Given the description of an element on the screen output the (x, y) to click on. 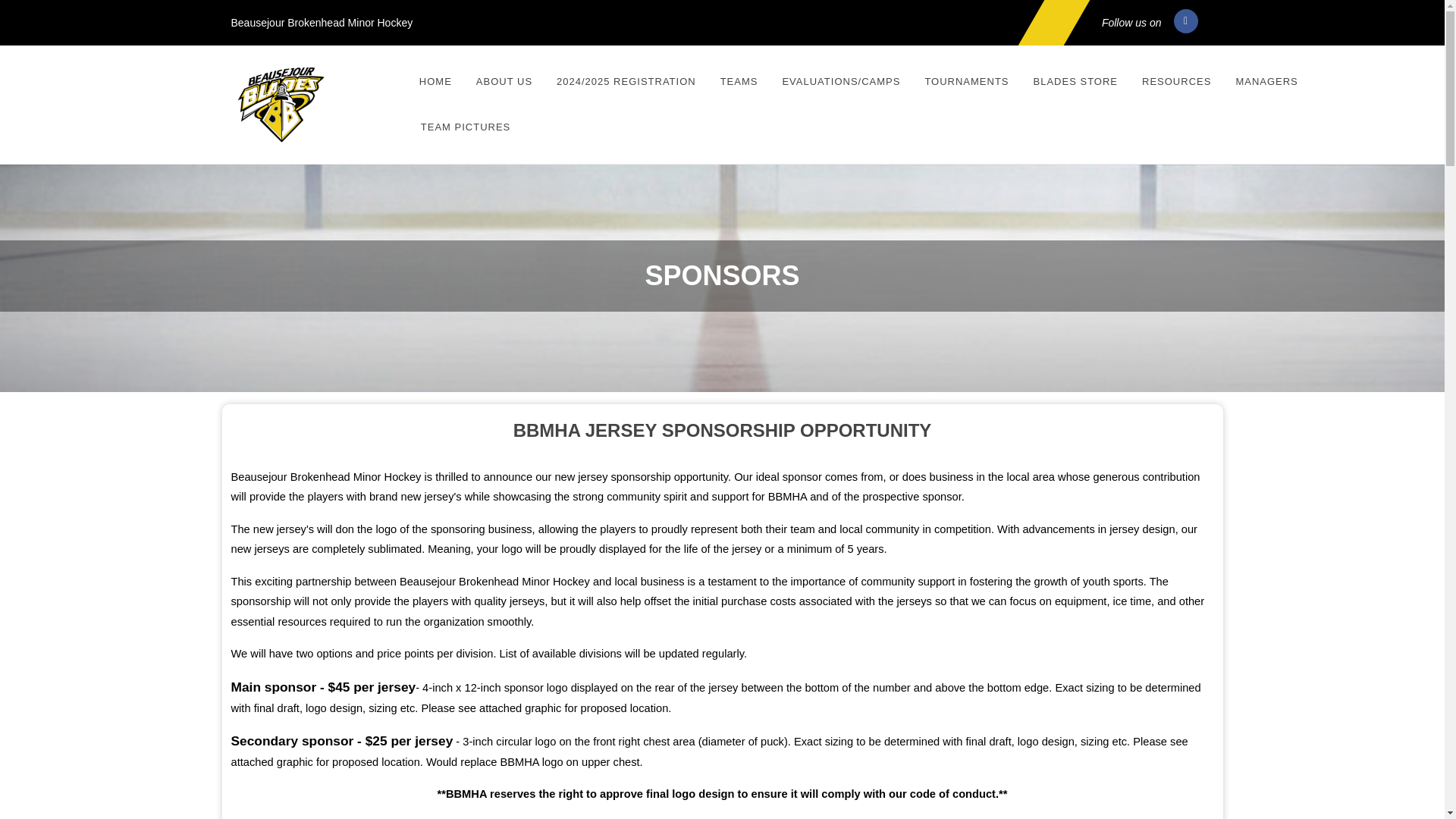
MANAGERS (1266, 81)
TEAMS (739, 81)
ABOUT US (503, 81)
HOME (435, 81)
RESOURCES (1177, 81)
BLADES STORE (1075, 81)
TOURNAMENTS (966, 81)
TEAM PICTURES (465, 126)
